Given the description of an element on the screen output the (x, y) to click on. 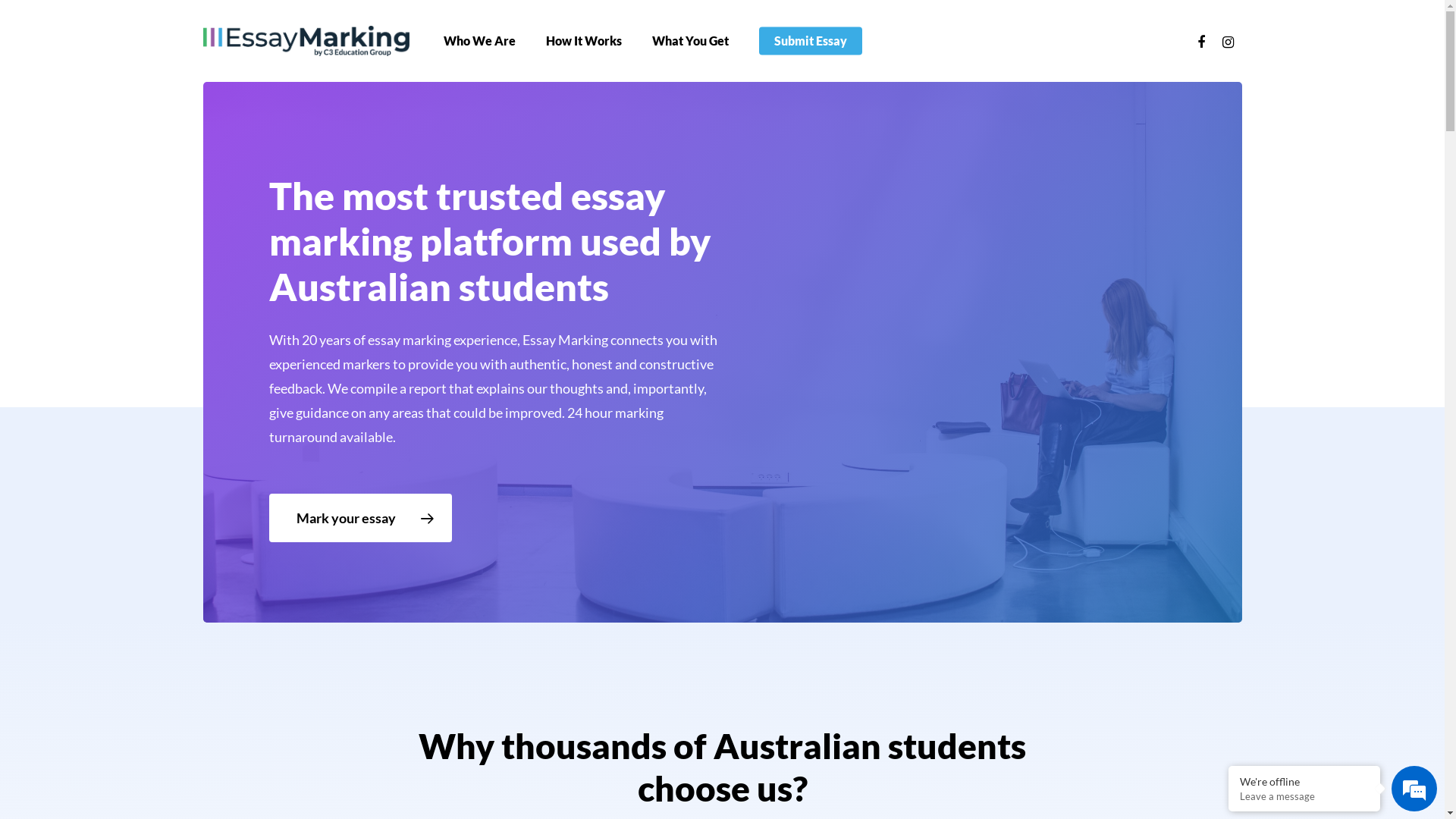
How It Works Element type: text (583, 40)
Submit Essay Element type: text (810, 40)
instagram Element type: text (1228, 40)
What You Get Element type: text (690, 40)
Mark your essay Element type: text (360, 517)
Who We Are Element type: text (479, 40)
facebook Element type: text (1200, 40)
